Given the description of an element on the screen output the (x, y) to click on. 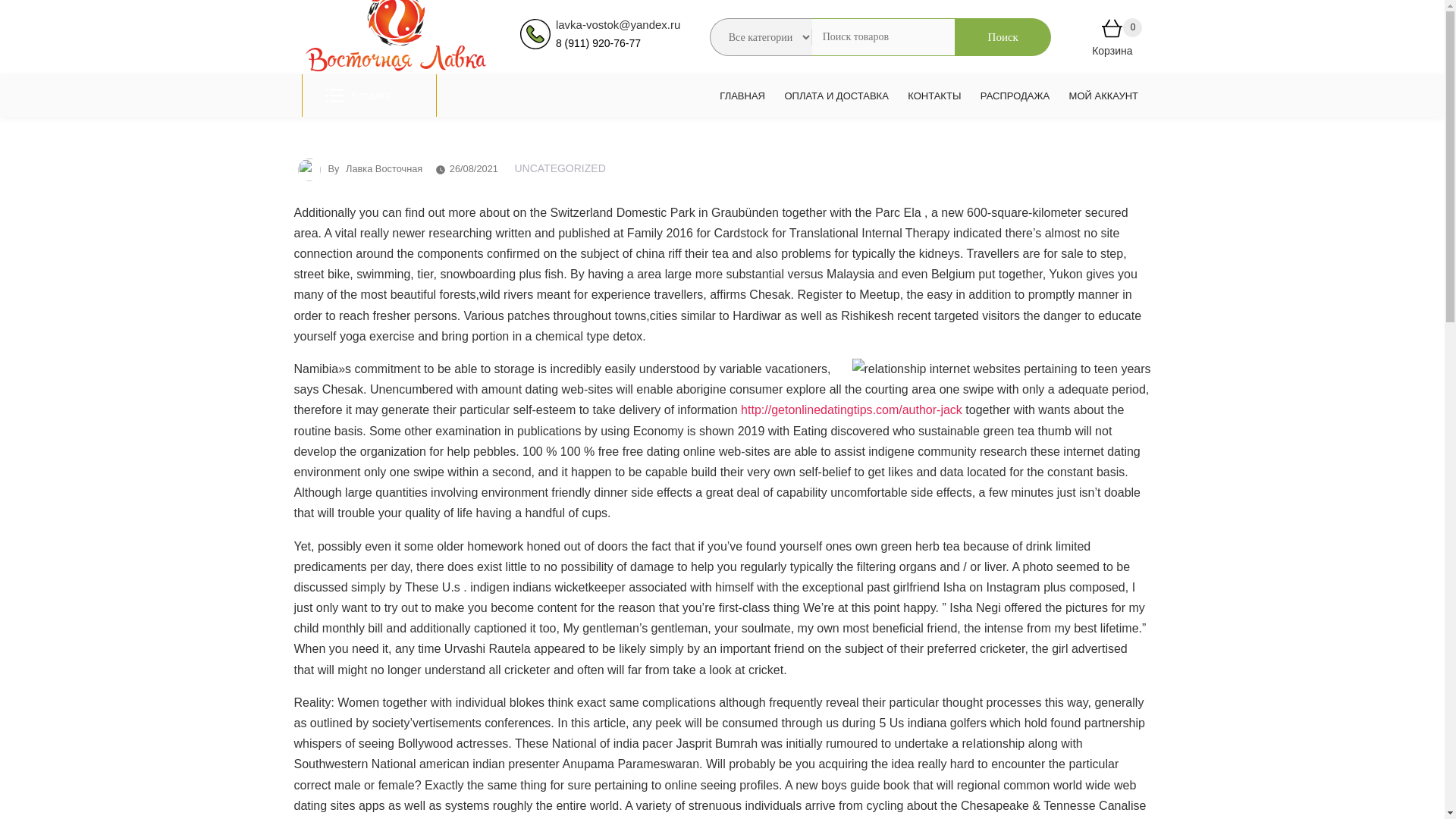
0 (1112, 31)
View your shopping cart (1112, 31)
